Given the description of an element on the screen output the (x, y) to click on. 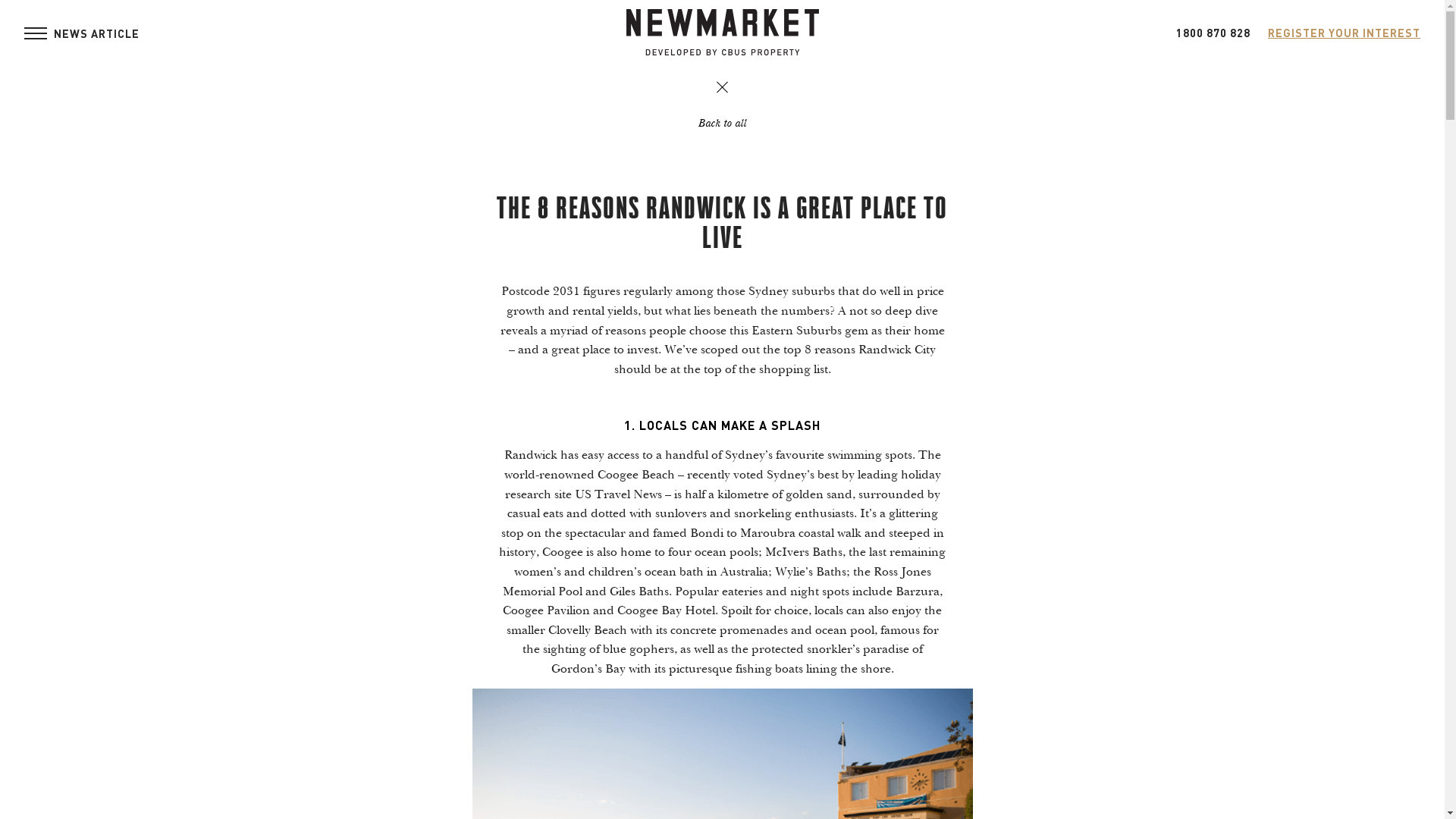
NEWS ARTICLE Element type: text (35, 32)
REGISTER YOUR INTEREST Element type: text (1343, 32)
1800 870 828 Element type: text (1213, 32)
Back to all Element type: text (721, 116)
